Given the description of an element on the screen output the (x, y) to click on. 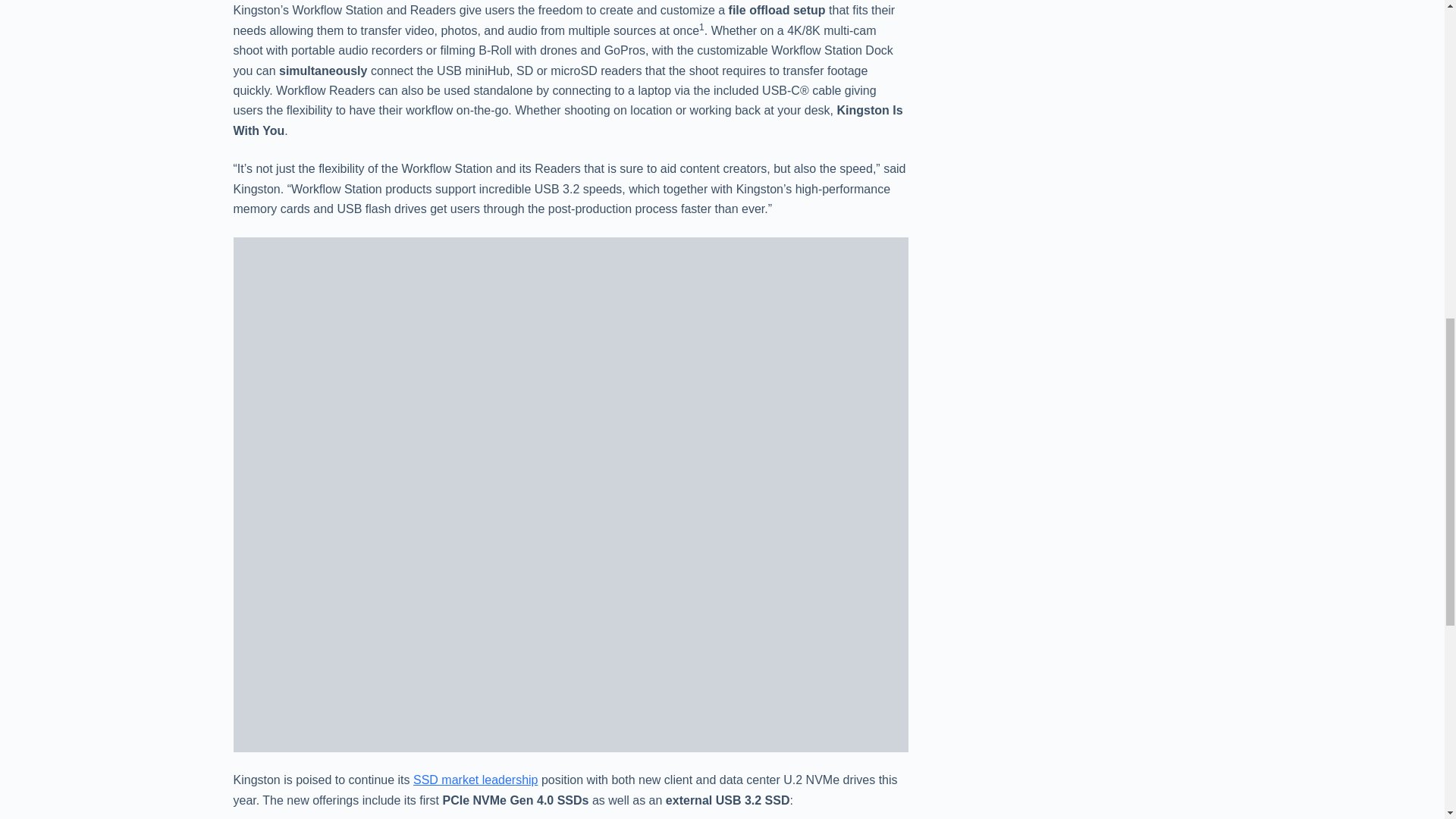
SSD market leadership (475, 779)
